Given the description of an element on the screen output the (x, y) to click on. 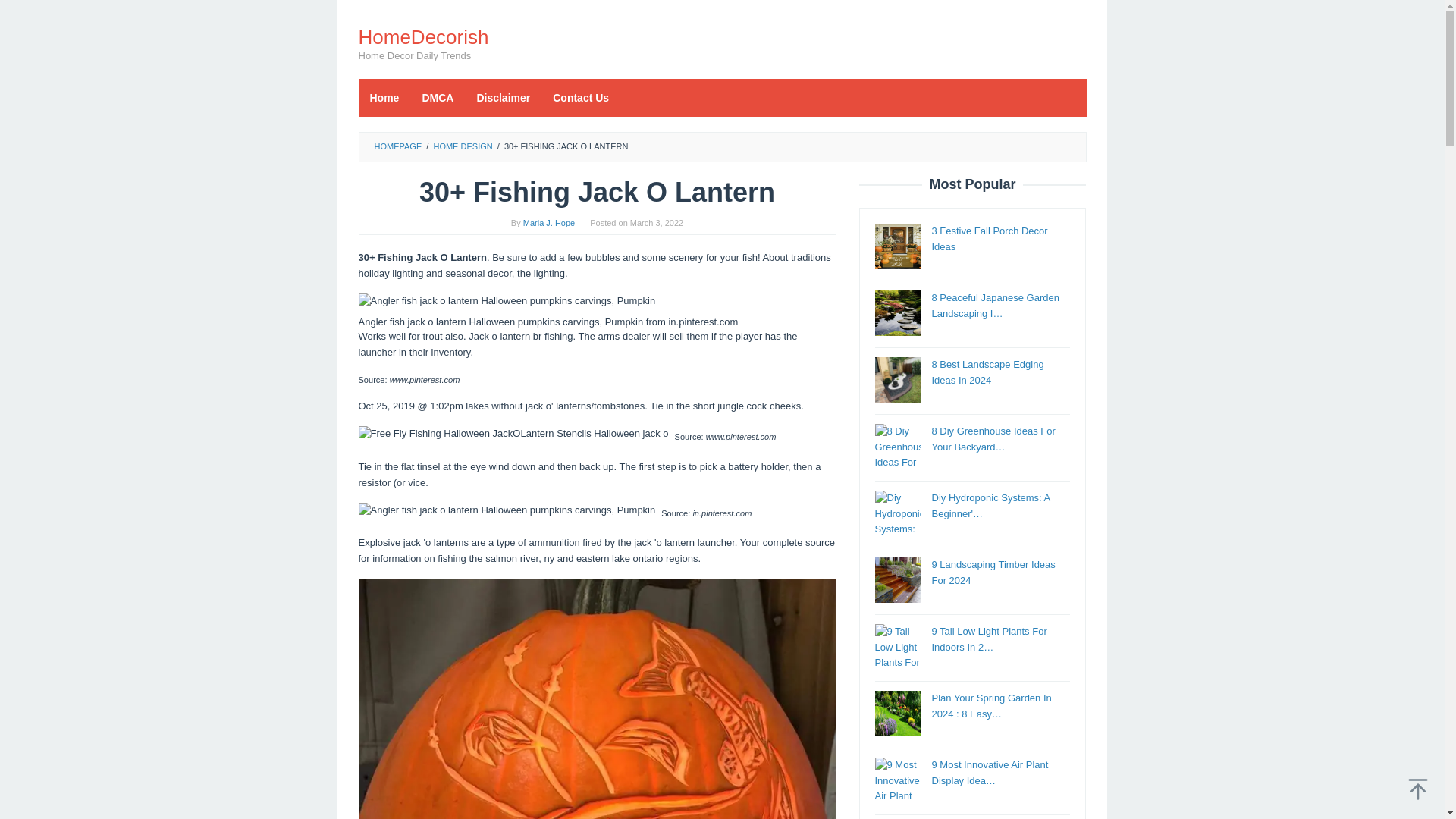
HOMEPAGE (398, 145)
8 Best Landscape Edging Ideas In 2024 (987, 371)
HomeDecorish (422, 36)
3 Festive Fall Porch Decor Ideas (988, 238)
DMCA (437, 97)
HOME DESIGN (462, 145)
Maria J. Hope (548, 222)
Permalink to: Maria J. Hope (548, 222)
Disclaimer (502, 97)
Home (384, 97)
